Given the description of an element on the screen output the (x, y) to click on. 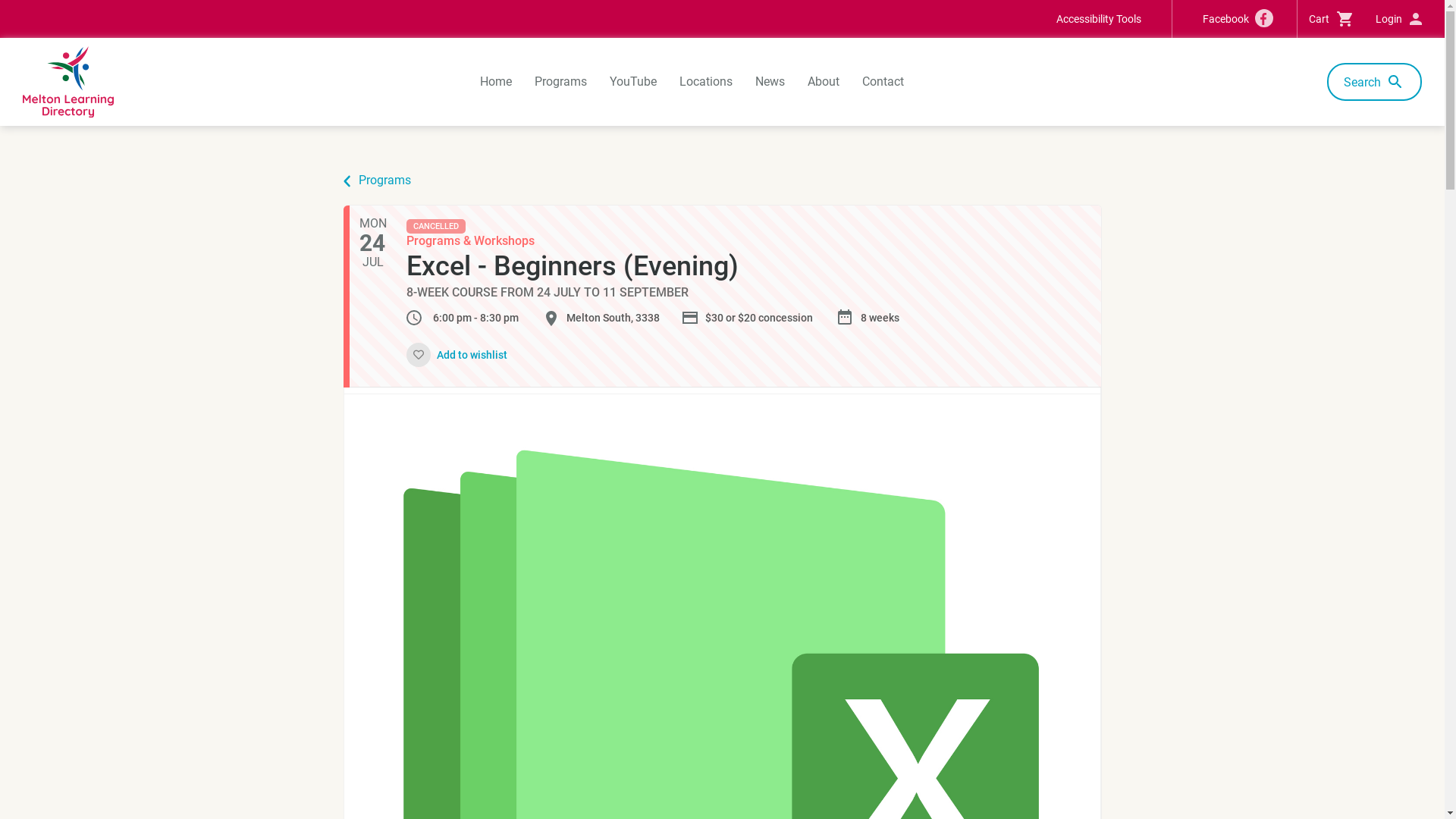
Cart Element type: text (1330, 18)
Login Element type: text (1398, 18)
Locations Element type: text (705, 81)
Programs Element type: text (383, 179)
Facebook Element type: text (1234, 18)
Accessibility Tools Element type: text (1098, 18)
About Element type: text (823, 81)
Contact Element type: text (882, 81)
News Element type: text (769, 81)
YouTube Element type: text (632, 81)
Programs Element type: text (560, 81)
Home Element type: text (495, 81)
